Given the description of an element on the screen output the (x, y) to click on. 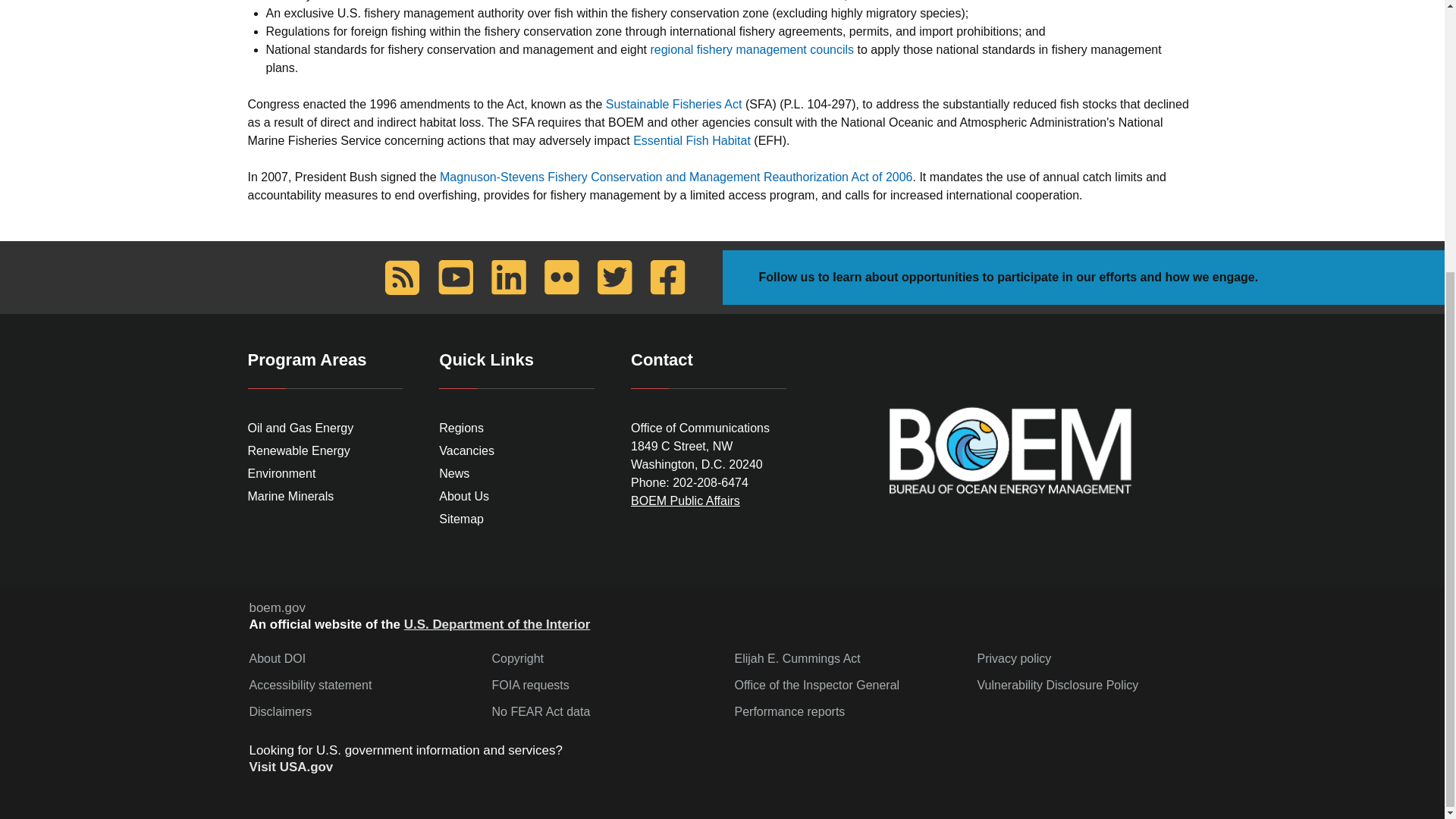
regional fishery management councils (751, 49)
BOEM Current Openings (467, 450)
Footer Logo (1009, 450)
Essential Fish Habitat (692, 140)
